Given the description of an element on the screen output the (x, y) to click on. 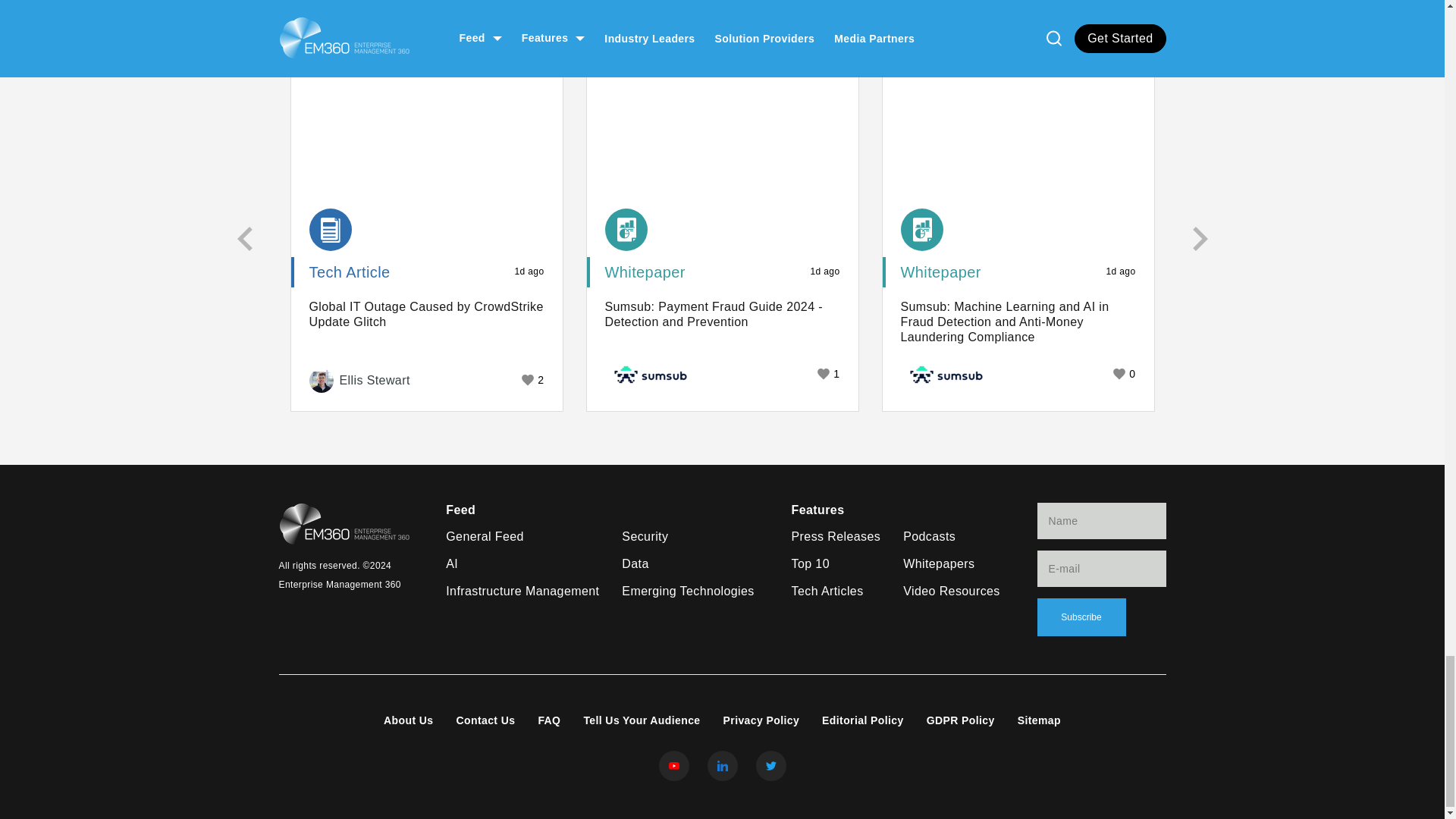
Linkedin (721, 766)
Home (344, 524)
Subscribe (1080, 617)
Privacy Policy (761, 720)
About Us (408, 720)
Sitemap (1039, 720)
GDPR Policy (960, 720)
youtube (673, 766)
Twitter (770, 766)
